Given the description of an element on the screen output the (x, y) to click on. 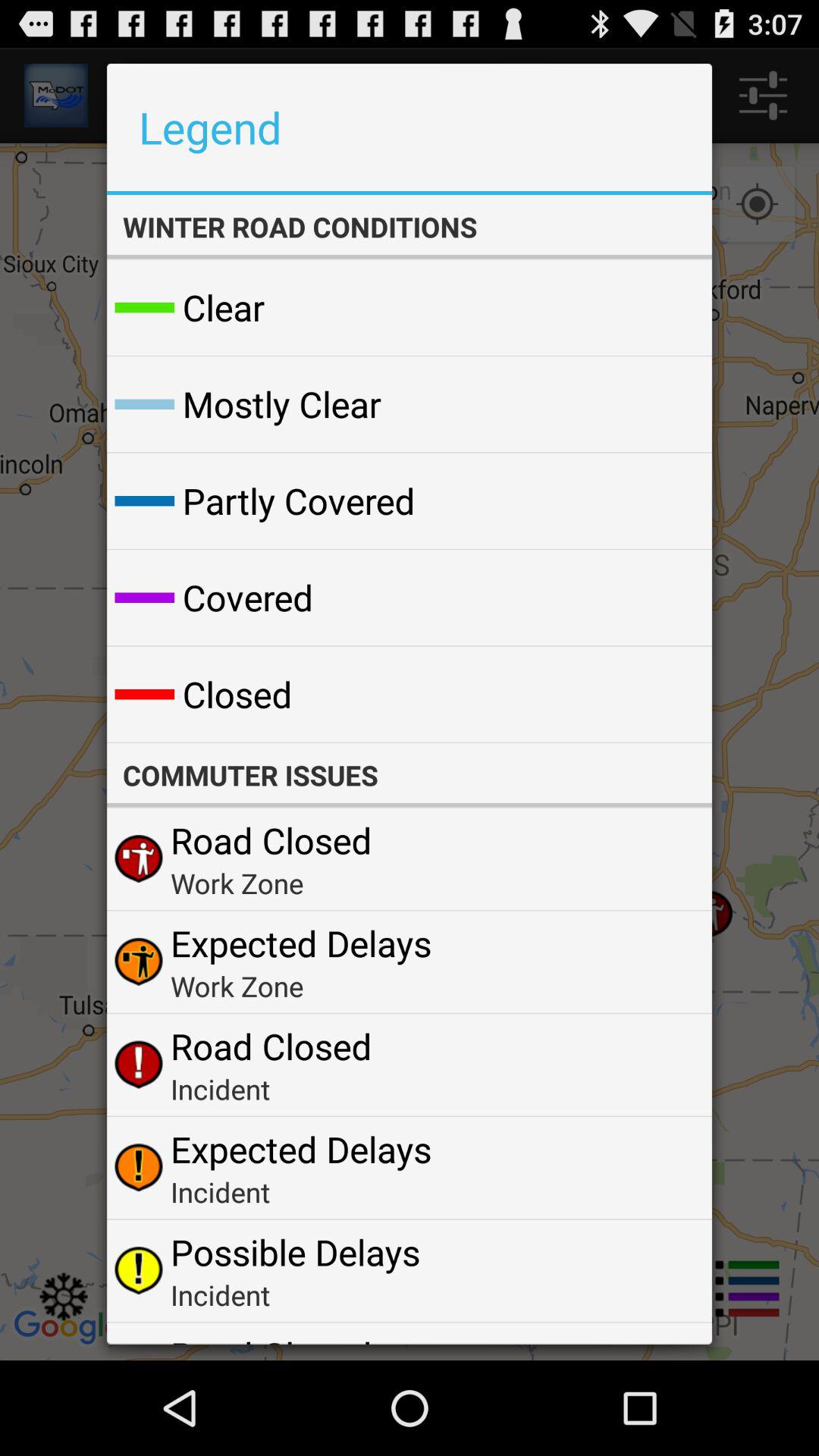
turn on the item to the right of the road closed item (664, 1338)
